Given the description of an element on the screen output the (x, y) to click on. 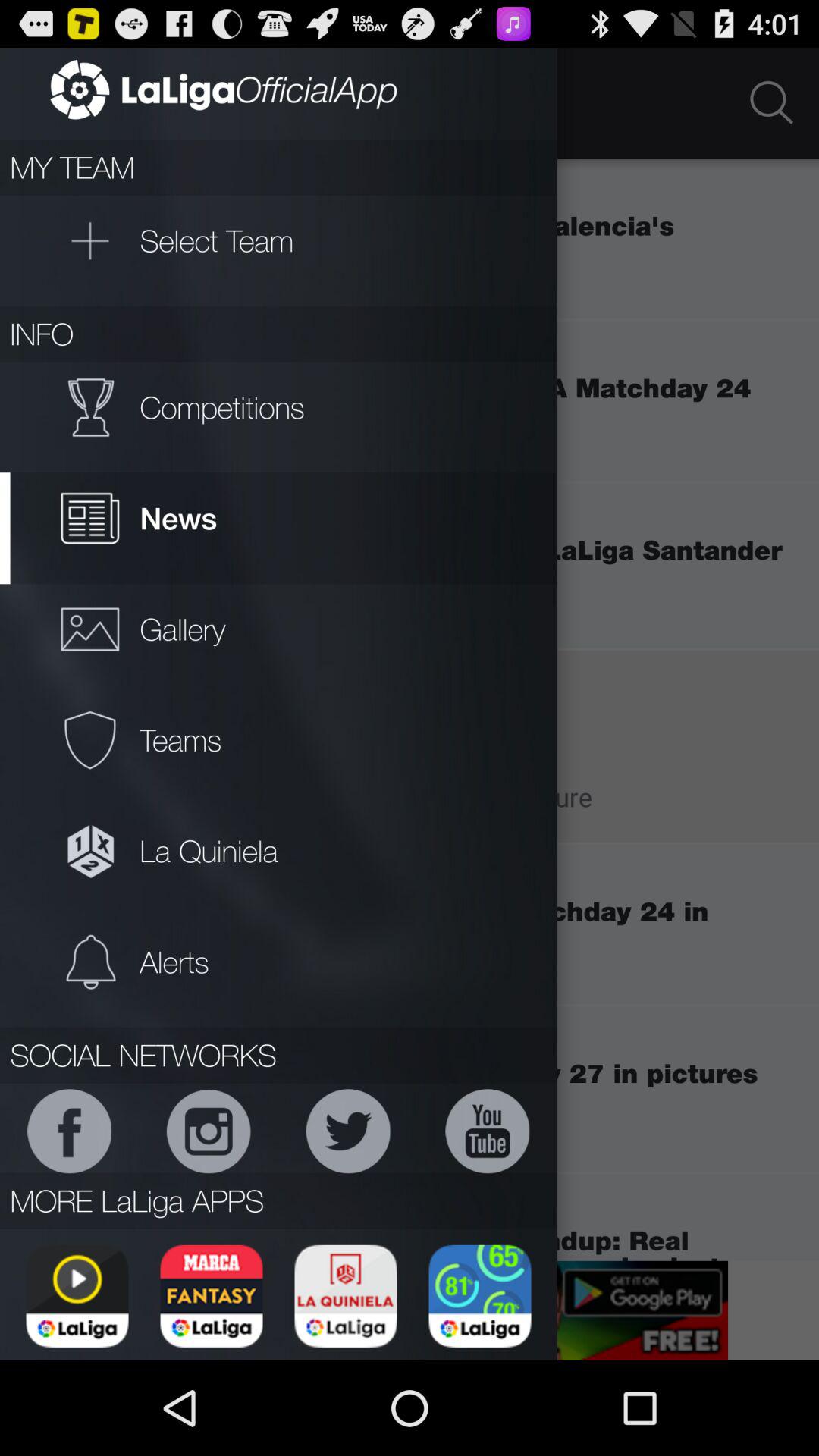
select the icon which is left side of the competitions (89, 407)
